Given the description of an element on the screen output the (x, y) to click on. 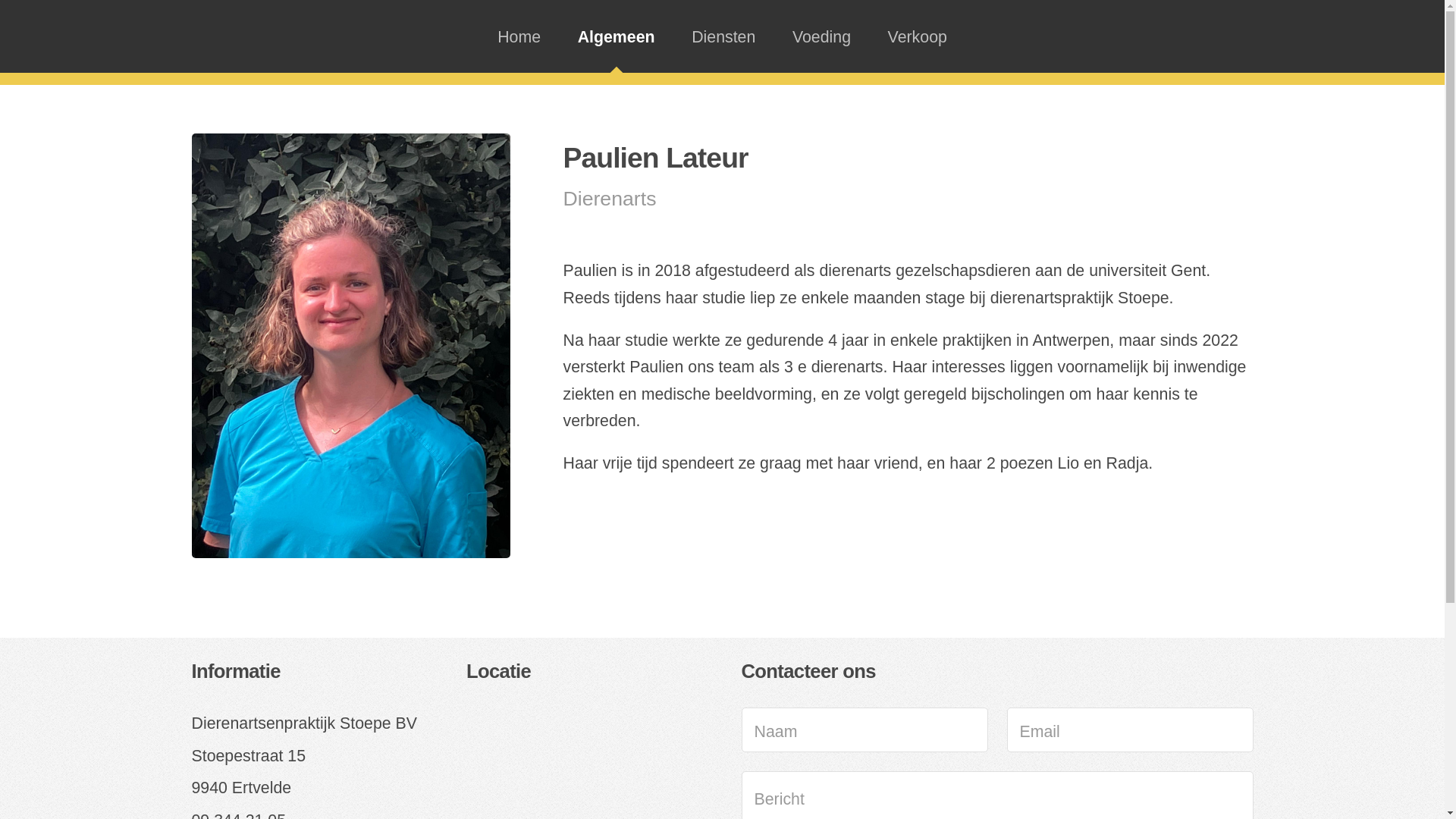
Home Element type: text (518, 36)
Verkoop Element type: text (917, 36)
Algemeen Element type: text (615, 36)
Diensten Element type: text (723, 36)
Voeding Element type: text (821, 36)
